Given the description of an element on the screen output the (x, y) to click on. 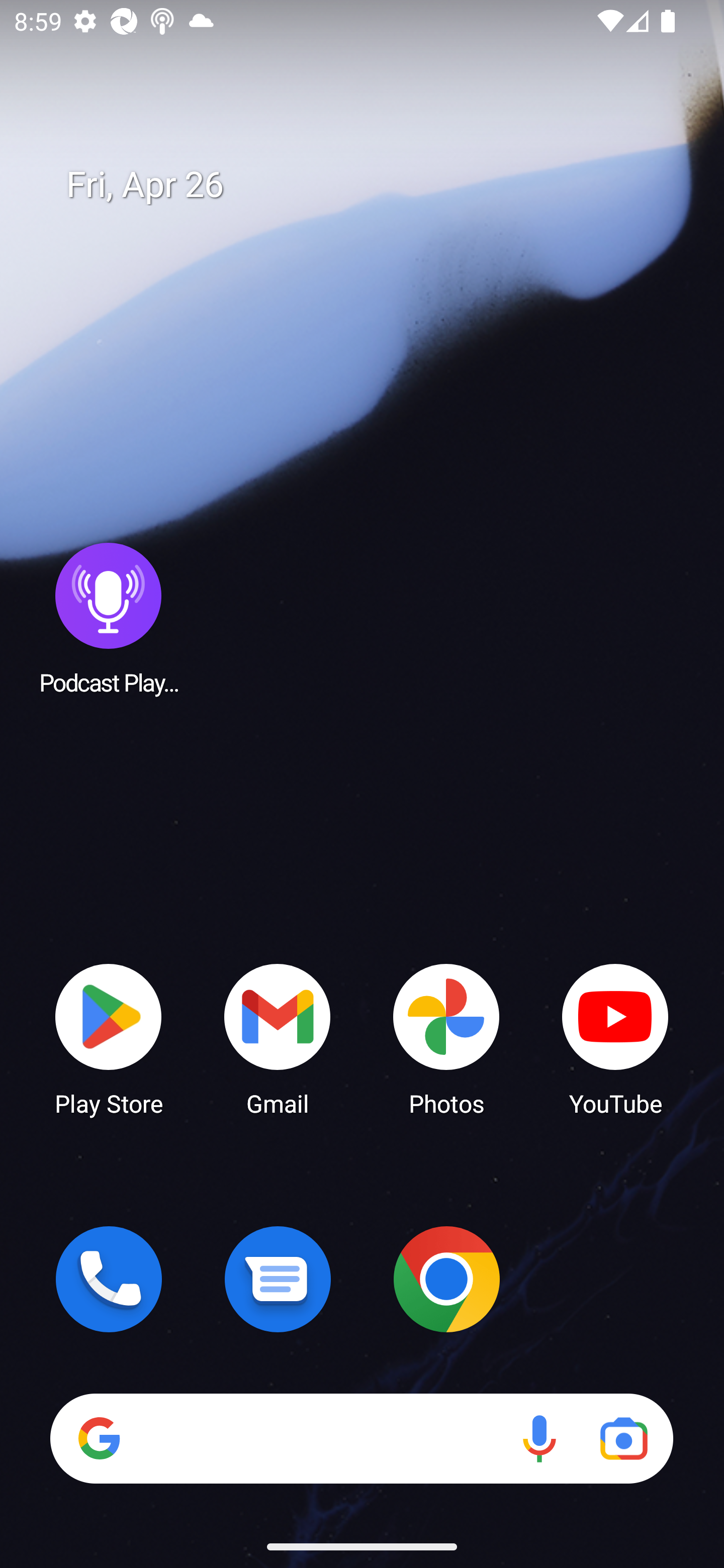
Fri, Apr 26 (375, 184)
Podcast Player (108, 617)
Play Store (108, 1038)
Gmail (277, 1038)
Photos (445, 1038)
YouTube (615, 1038)
Phone (108, 1279)
Messages (277, 1279)
Chrome (446, 1279)
Search Voice search Google Lens (361, 1438)
Voice search (539, 1438)
Google Lens (623, 1438)
